Given the description of an element on the screen output the (x, y) to click on. 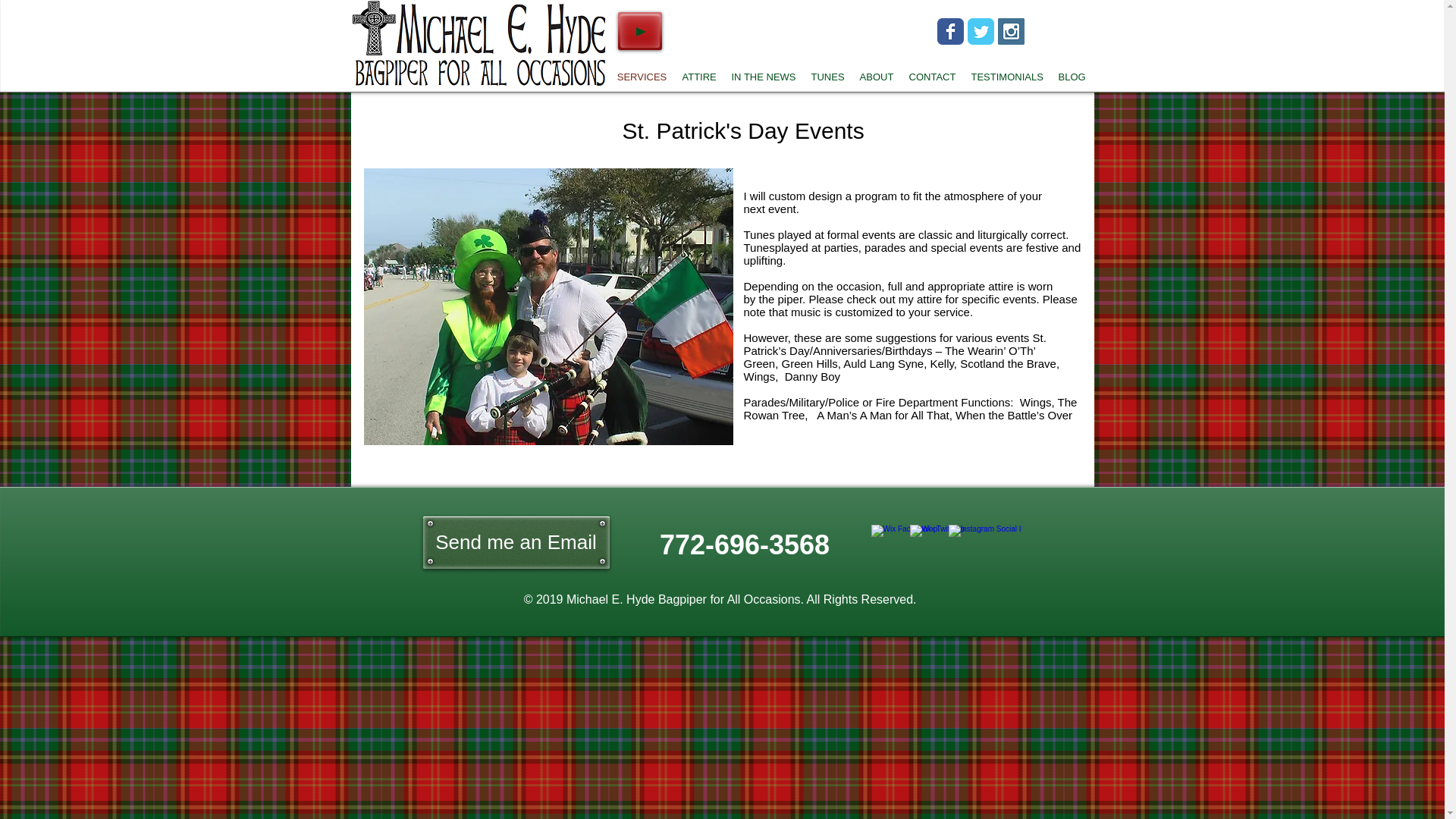
ATTIRE (699, 76)
BLOG (1072, 76)
Send me an Email (516, 542)
IN THE NEWS (763, 76)
TESTIMONIALS (1005, 76)
CONTACT (931, 76)
ABOUT (876, 76)
SERVICES (642, 76)
TUNES (827, 76)
